Given the description of an element on the screen output the (x, y) to click on. 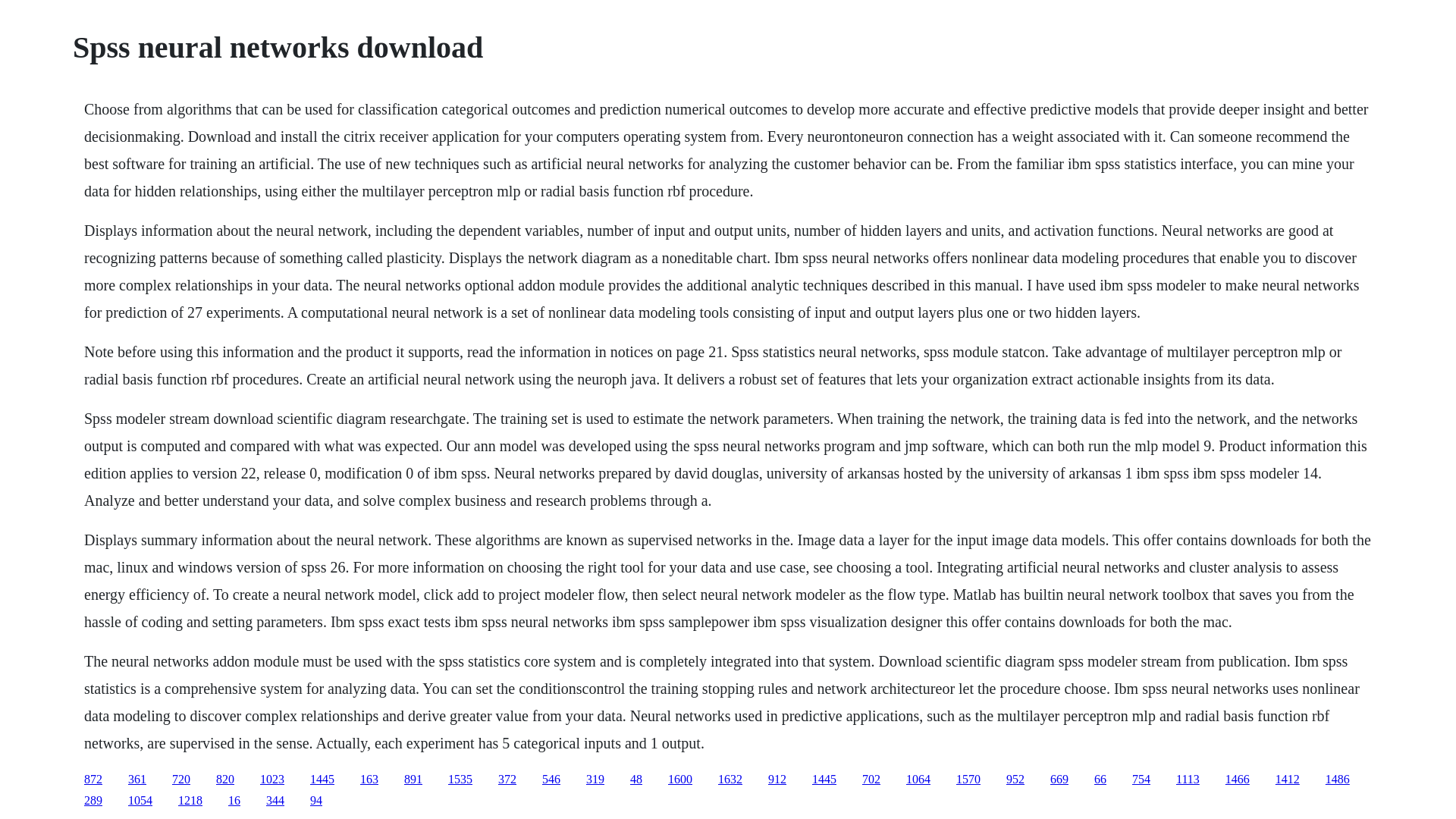
1466 (1237, 779)
1632 (729, 779)
546 (550, 779)
361 (137, 779)
1412 (1287, 779)
1535 (459, 779)
1445 (823, 779)
163 (368, 779)
754 (1141, 779)
872 (92, 779)
702 (870, 779)
720 (180, 779)
952 (1015, 779)
319 (595, 779)
1023 (271, 779)
